Given the description of an element on the screen output the (x, y) to click on. 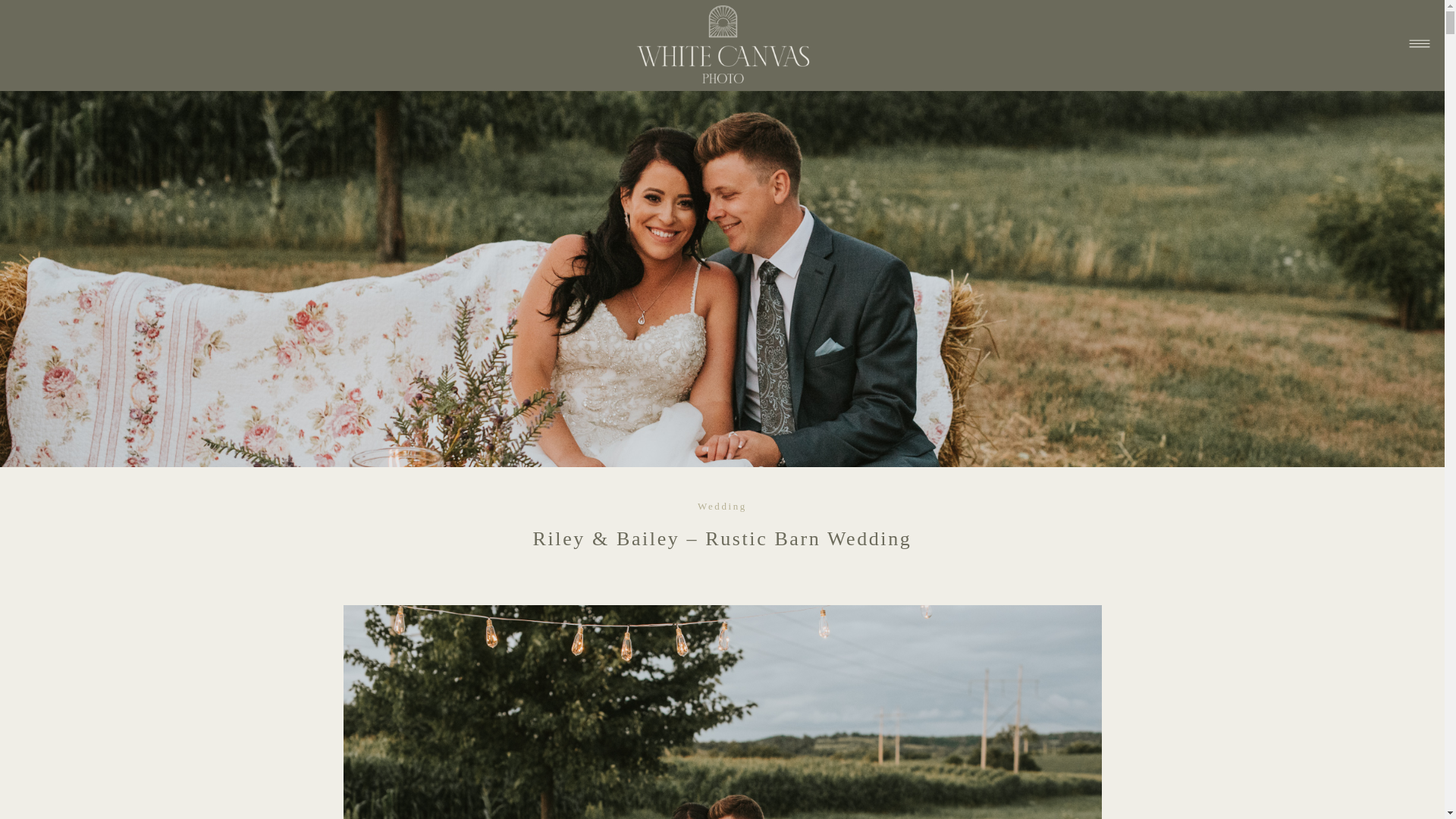
Wedding (721, 505)
